Given the description of an element on the screen output the (x, y) to click on. 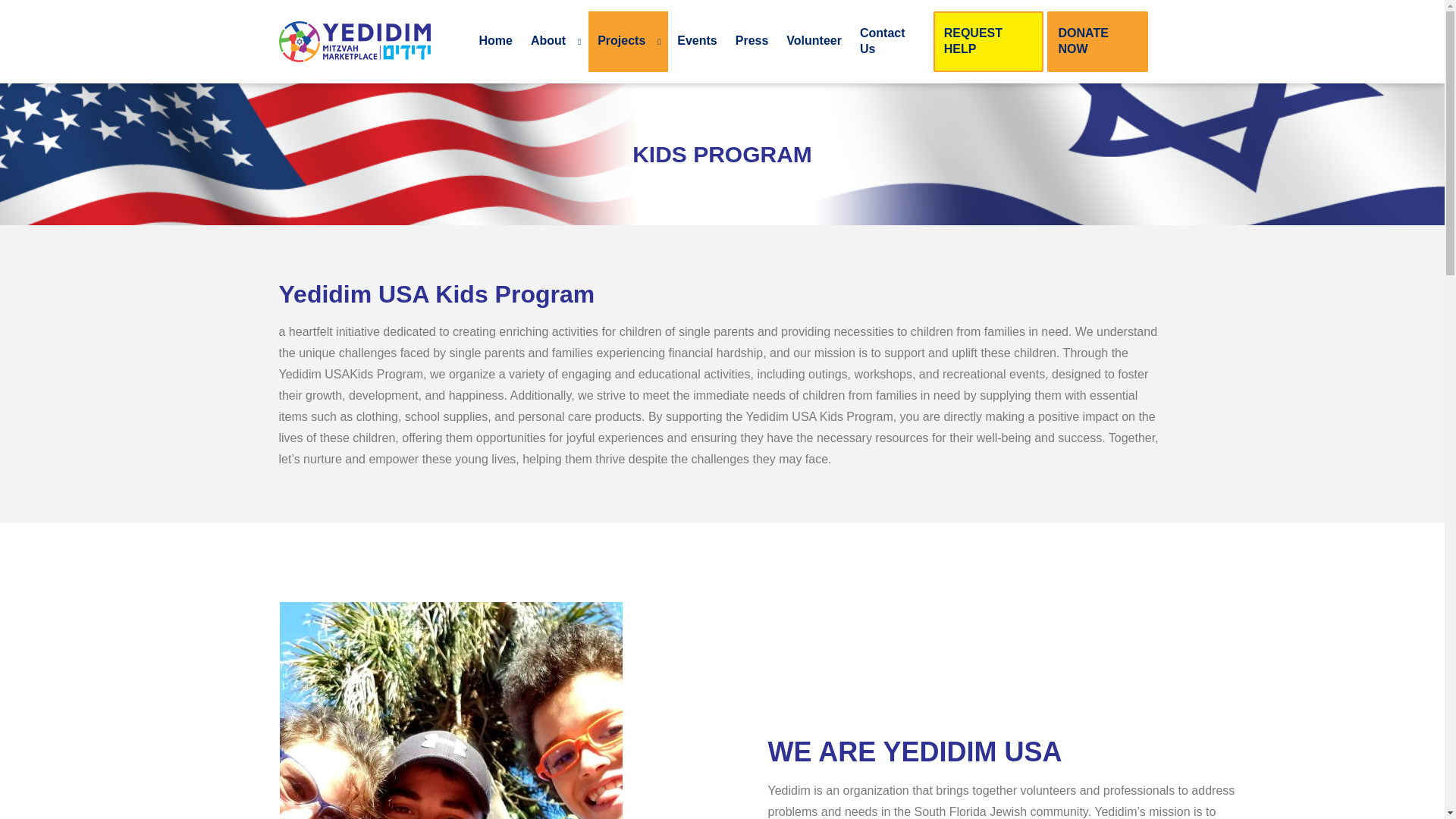
DONATE NOW (1096, 41)
REQUEST HELP (988, 41)
About (554, 41)
Volunteer (813, 41)
Events (696, 41)
Projects (628, 41)
2cbb84a4-8b53-4893-a726-331a257e49bf (451, 710)
Contact Us (890, 41)
